Given the description of an element on the screen output the (x, y) to click on. 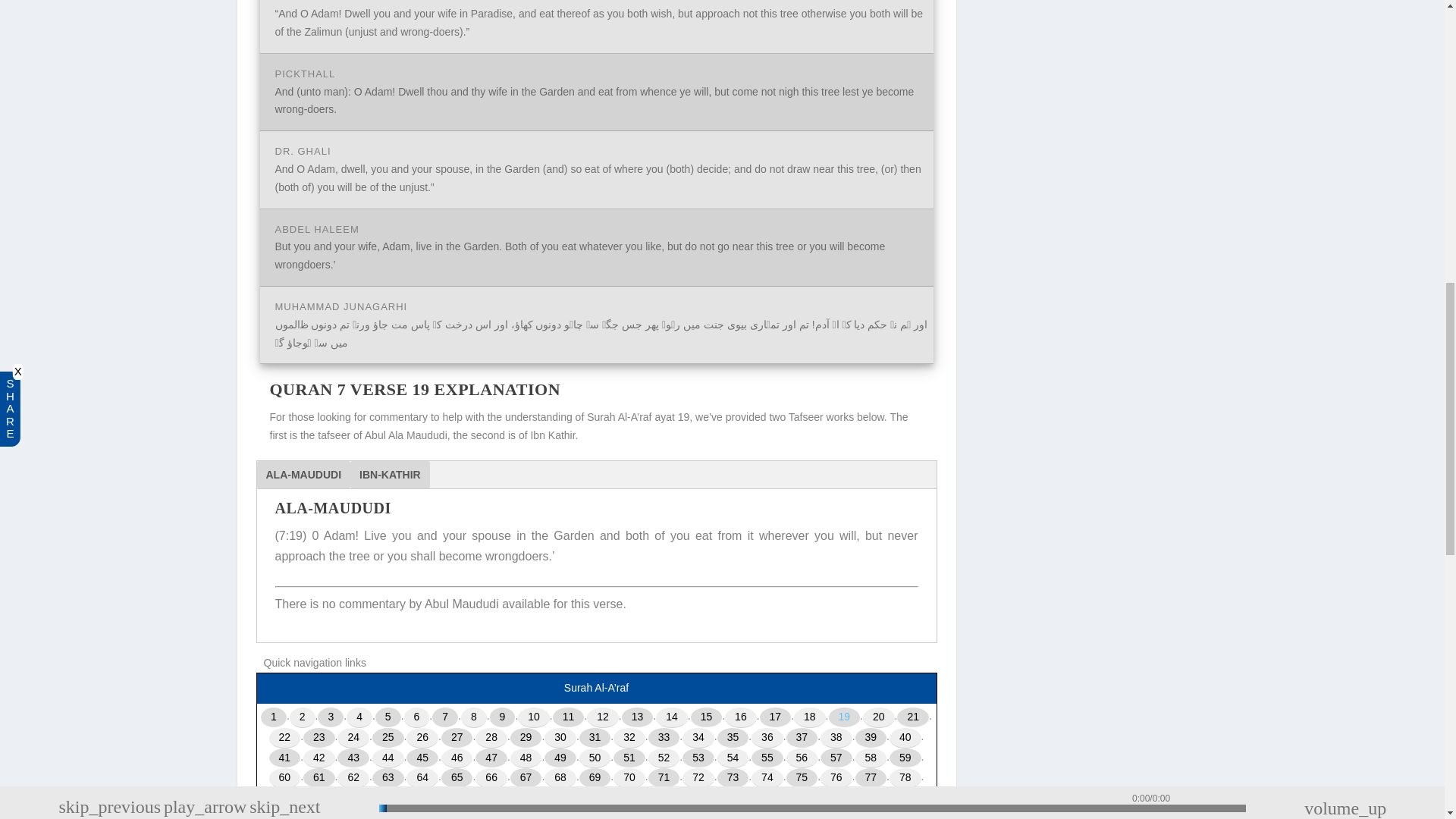
5 (388, 717)
4 (359, 717)
IBN-KATHIR (389, 474)
ALA-MAUDUDI (303, 474)
7 (445, 717)
12 (602, 717)
8 (473, 717)
6 (416, 717)
9 (502, 717)
10 (534, 717)
1 (273, 717)
3 (330, 717)
11 (569, 717)
2 (302, 717)
